Given the description of an element on the screen output the (x, y) to click on. 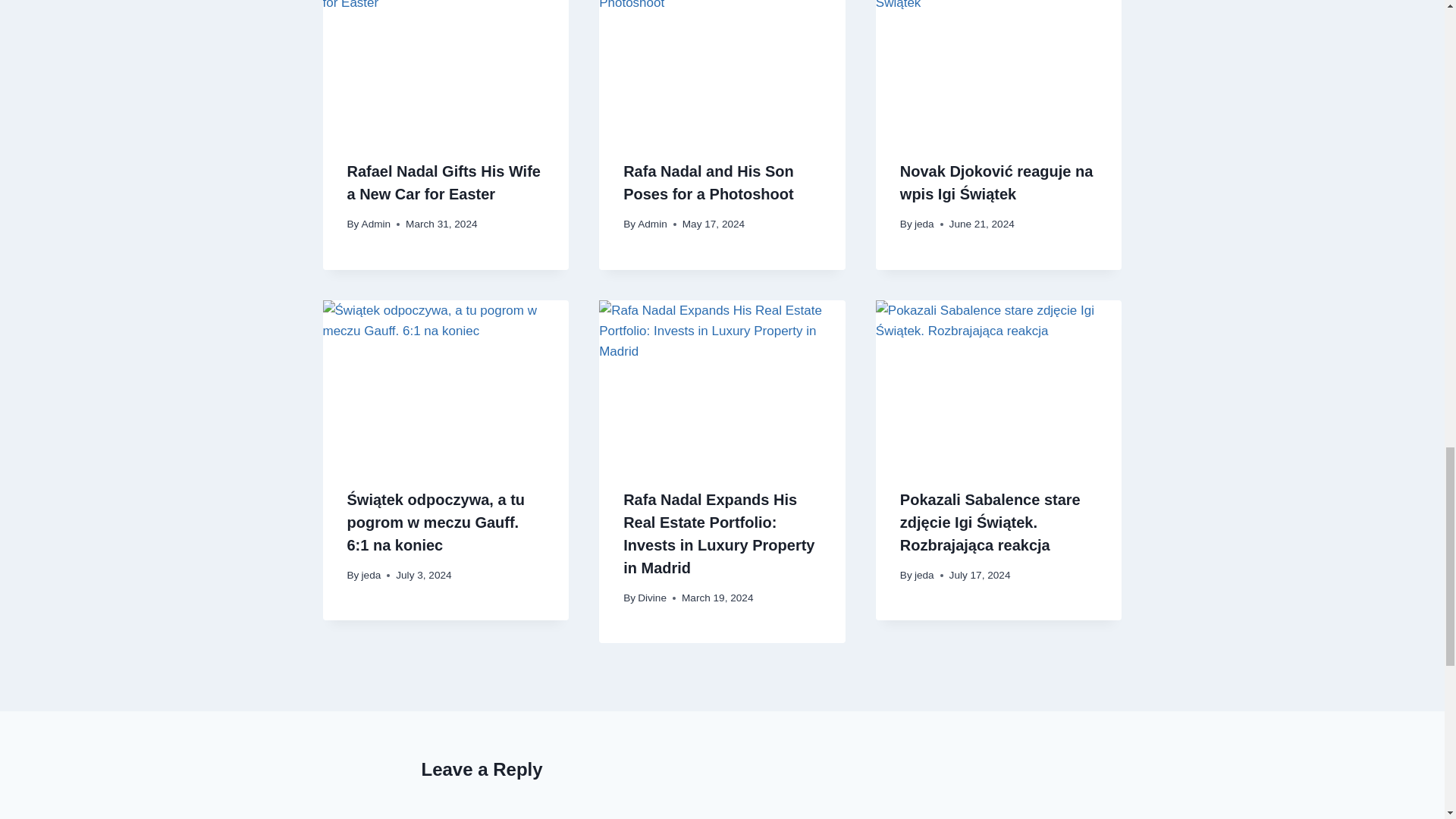
Admin (651, 224)
Rafael Nadal Gifts His Wife a New Car for Easter (443, 182)
Comment Form (722, 810)
Rafa Nadal and His Son Poses for a Photoshoot (708, 182)
jeda (924, 224)
Admin (376, 224)
